Given the description of an element on the screen output the (x, y) to click on. 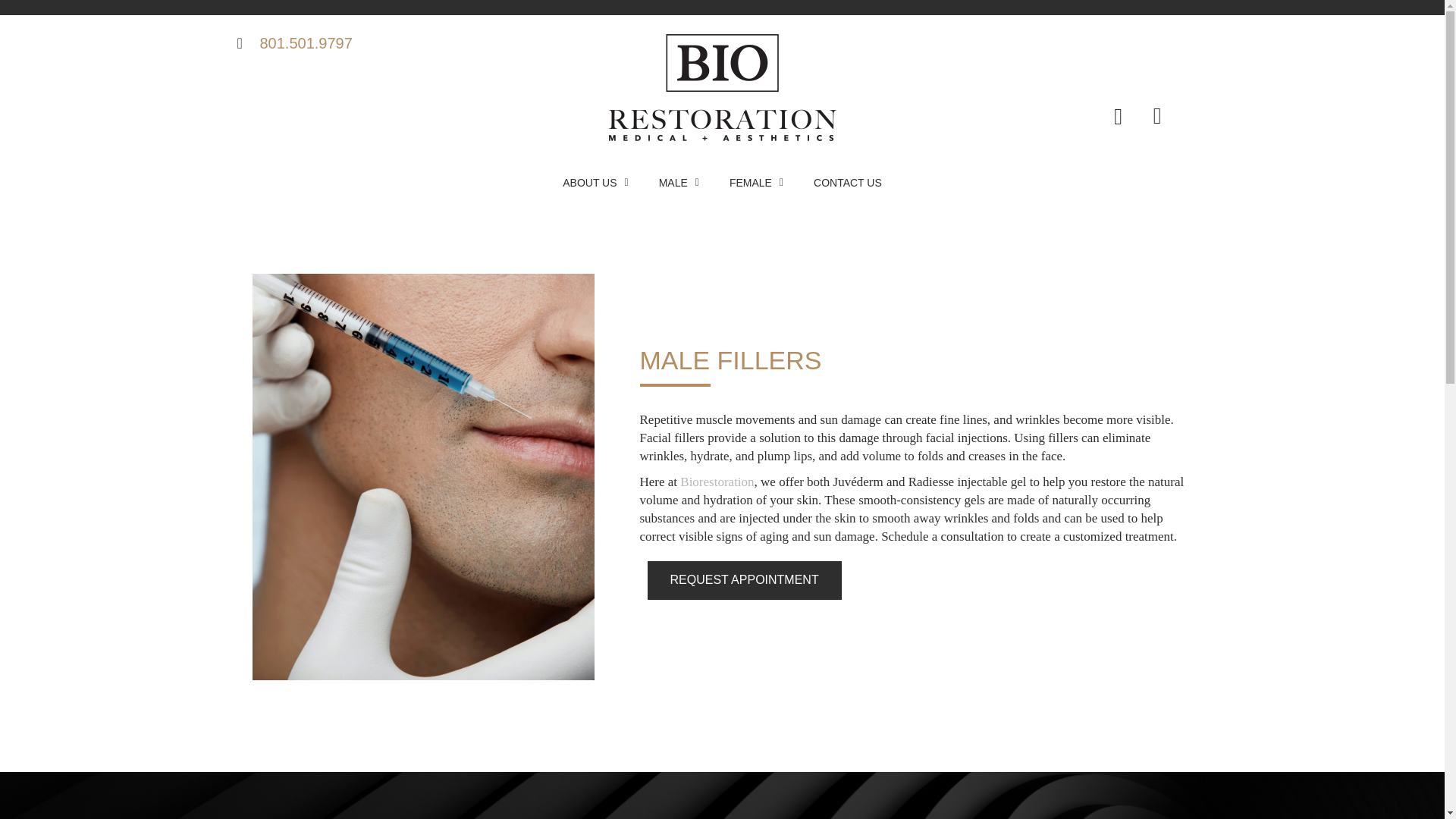
801.501.9797 (392, 43)
ABOUT US (595, 182)
FEMALE (755, 182)
MALE (678, 182)
